Given the description of an element on the screen output the (x, y) to click on. 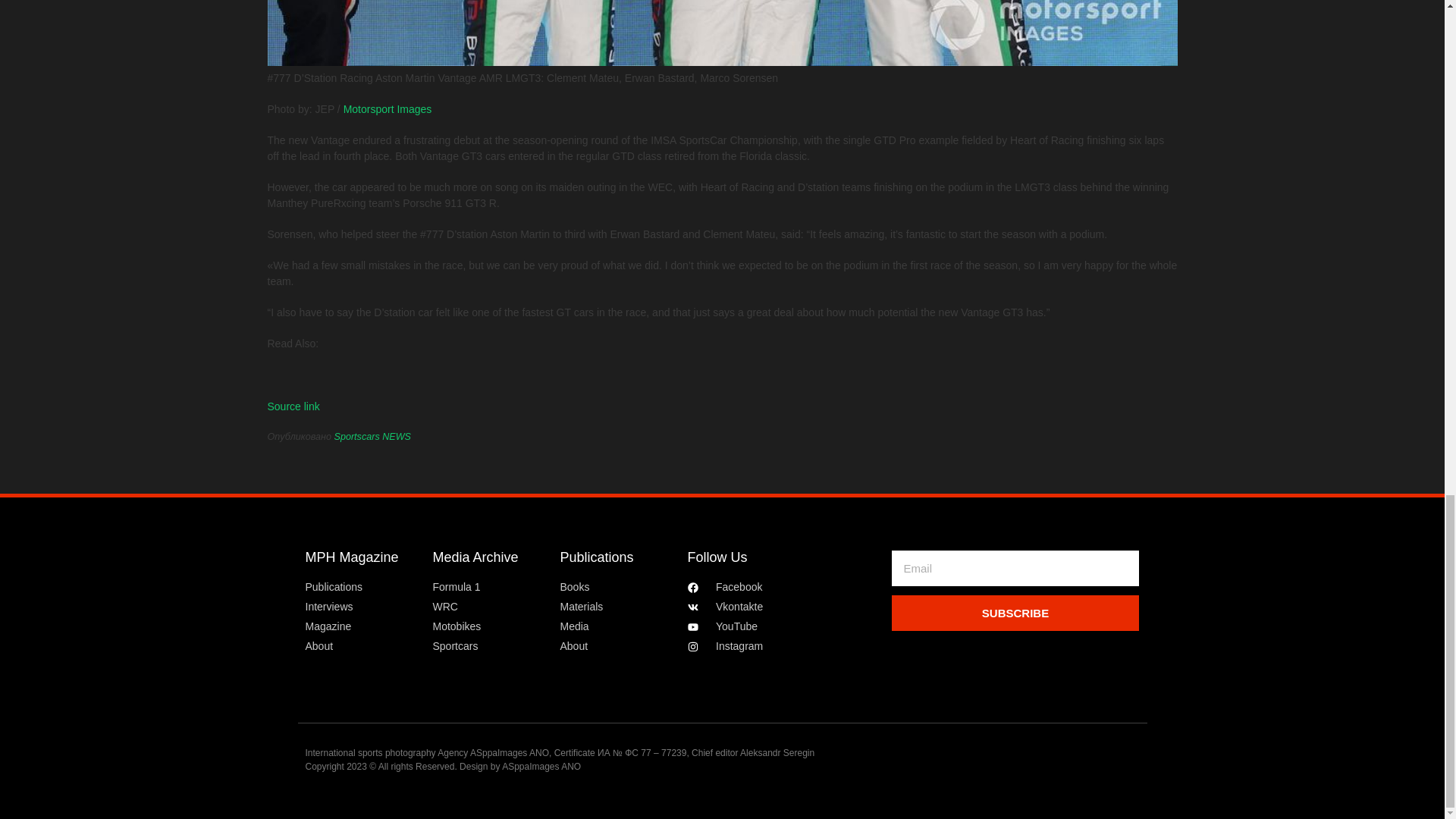
MPH Magazine (350, 557)
Sportcars (488, 646)
Books (615, 587)
Motobikes (488, 626)
Magazine (360, 626)
WRC (488, 606)
Motorsport Images (387, 109)
Media Archive (475, 557)
Interviews (360, 606)
Publications (360, 587)
Materials (615, 606)
Source link (292, 406)
Sportscars NEWS (371, 436)
Formula 1 (488, 587)
Publications (596, 557)
